Given the description of an element on the screen output the (x, y) to click on. 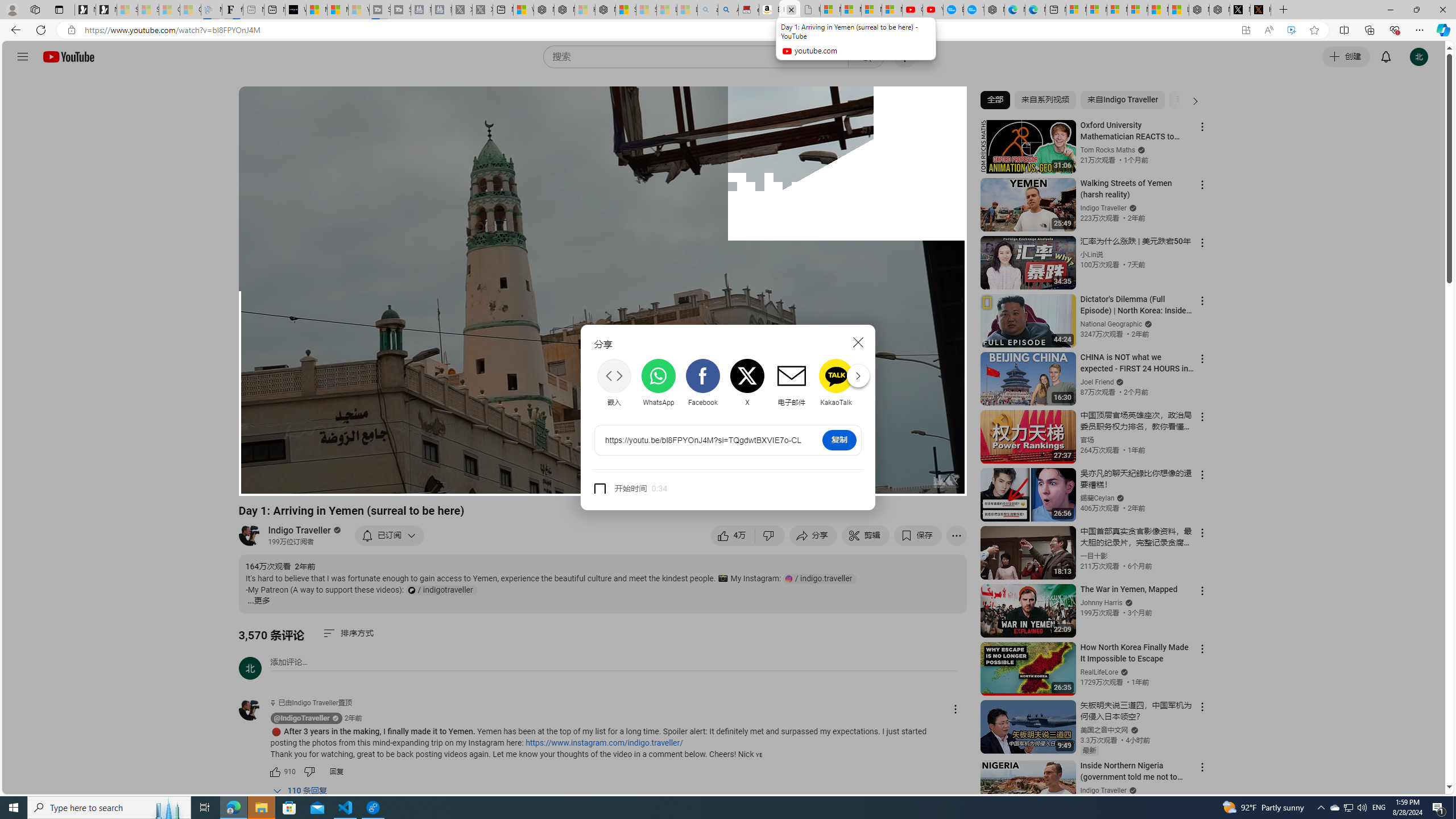
WhatsApp (658, 382)
KakaoTalk (836, 382)
AutomationID: share-url (703, 439)
Nordace - Nordace Siena Is Not An Ordinary Backpack (604, 9)
help.x.com | 524: A timeout occurred (1259, 9)
YouTube Kids - An App Created for Kids to Explore Content (932, 9)
Facebook (702, 383)
